Given the description of an element on the screen output the (x, y) to click on. 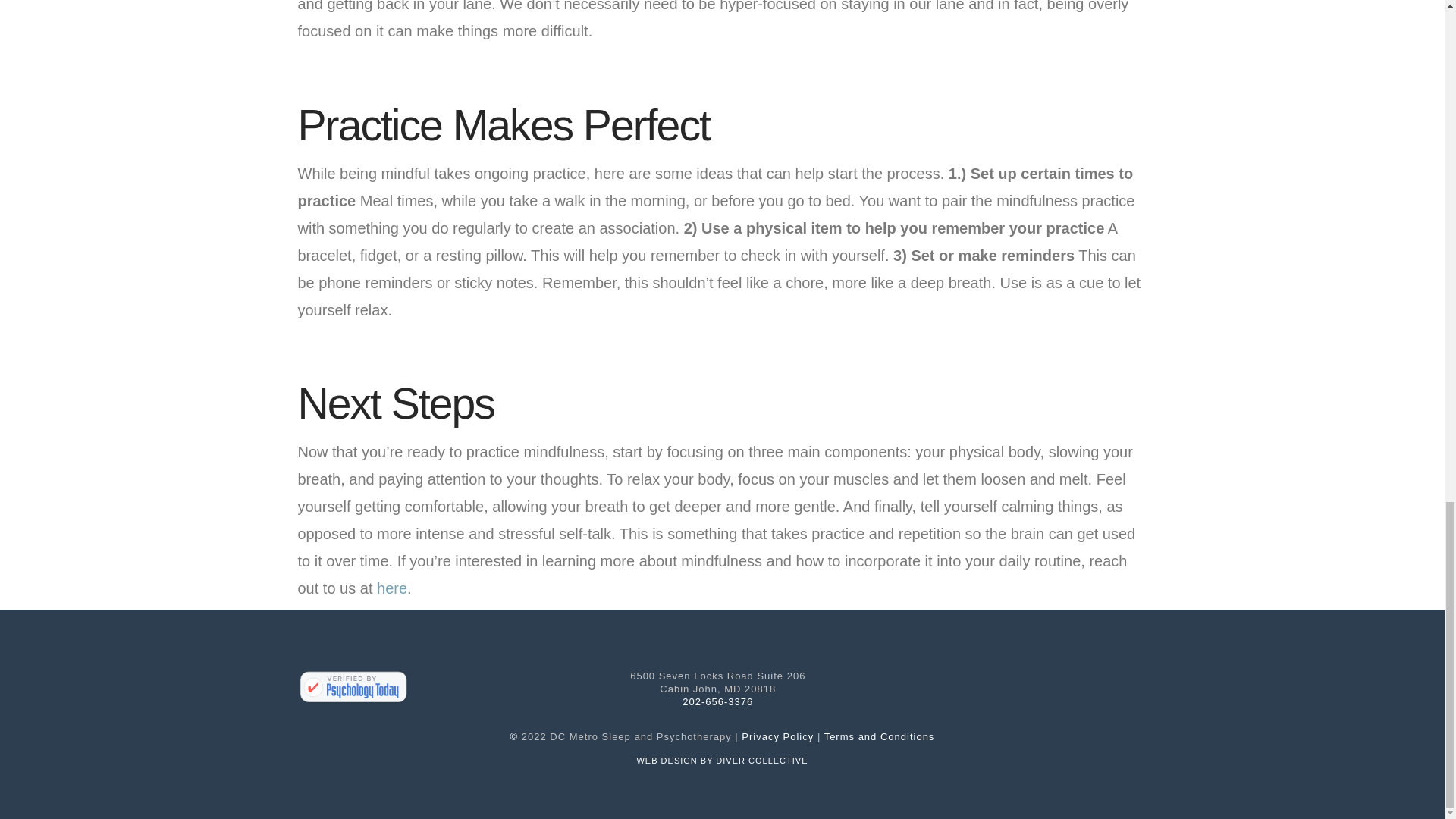
Terms and Conditions (879, 736)
Annie Miller (352, 687)
Privacy Policy (777, 736)
DIVER COLLECTIVE (762, 759)
here (392, 588)
202-656-3376 (717, 701)
